Given the description of an element on the screen output the (x, y) to click on. 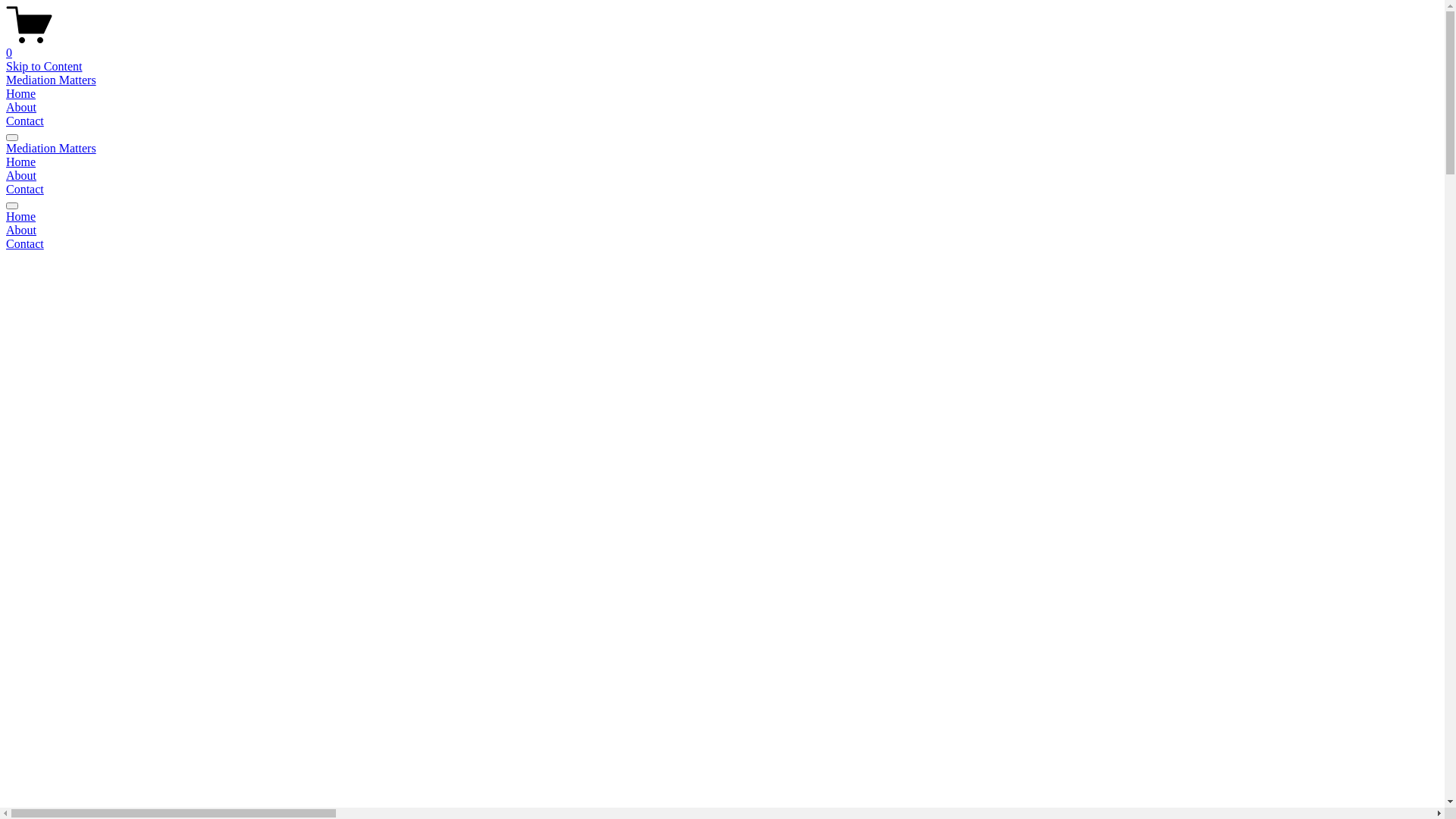
Contact Element type: text (24, 120)
Home Element type: text (722, 216)
Contact Element type: text (722, 244)
Skip to Content Element type: text (43, 65)
About Element type: text (722, 230)
Mediation Matters Element type: text (51, 147)
0 Element type: text (722, 45)
About Element type: text (21, 106)
Mediation Matters Element type: text (51, 79)
About Element type: text (21, 175)
Home Element type: text (20, 93)
Contact Element type: text (24, 188)
Home Element type: text (20, 161)
